Given the description of an element on the screen output the (x, y) to click on. 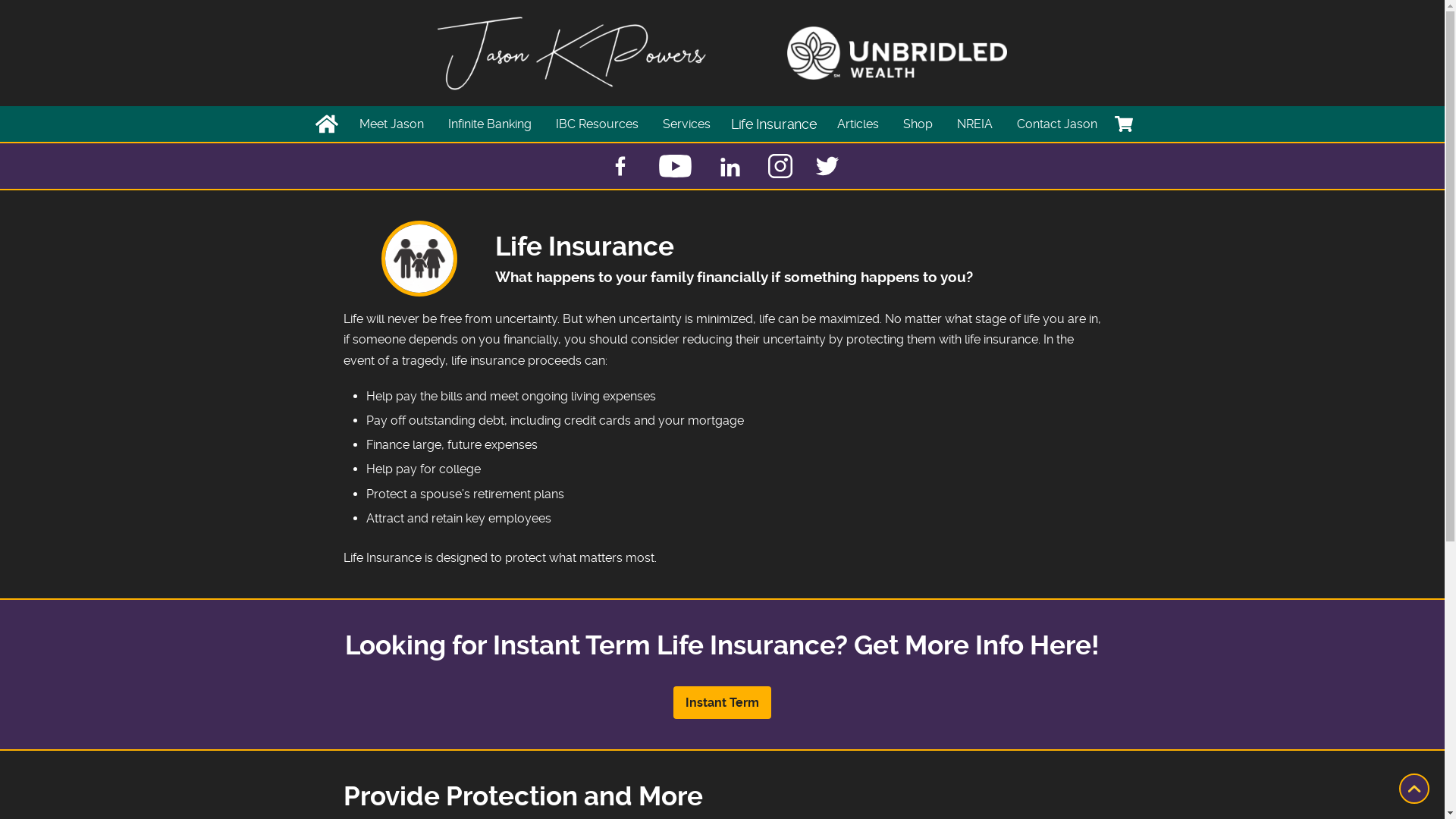
Instant Term Element type: text (722, 702)
Cart Element type: text (1123, 123)
Infinite Banking Element type: text (488, 123)
Services Element type: text (686, 123)
IBC Resources Element type: text (595, 123)
Articles Element type: text (858, 123)
Meet Jason Element type: text (391, 123)
Home Element type: text (326, 123)
Life Insurance Element type: text (768, 122)
NREIA Element type: text (974, 123)
Shop Element type: text (917, 123)
Contact Jason Element type: text (1056, 123)
